Given the description of an element on the screen output the (x, y) to click on. 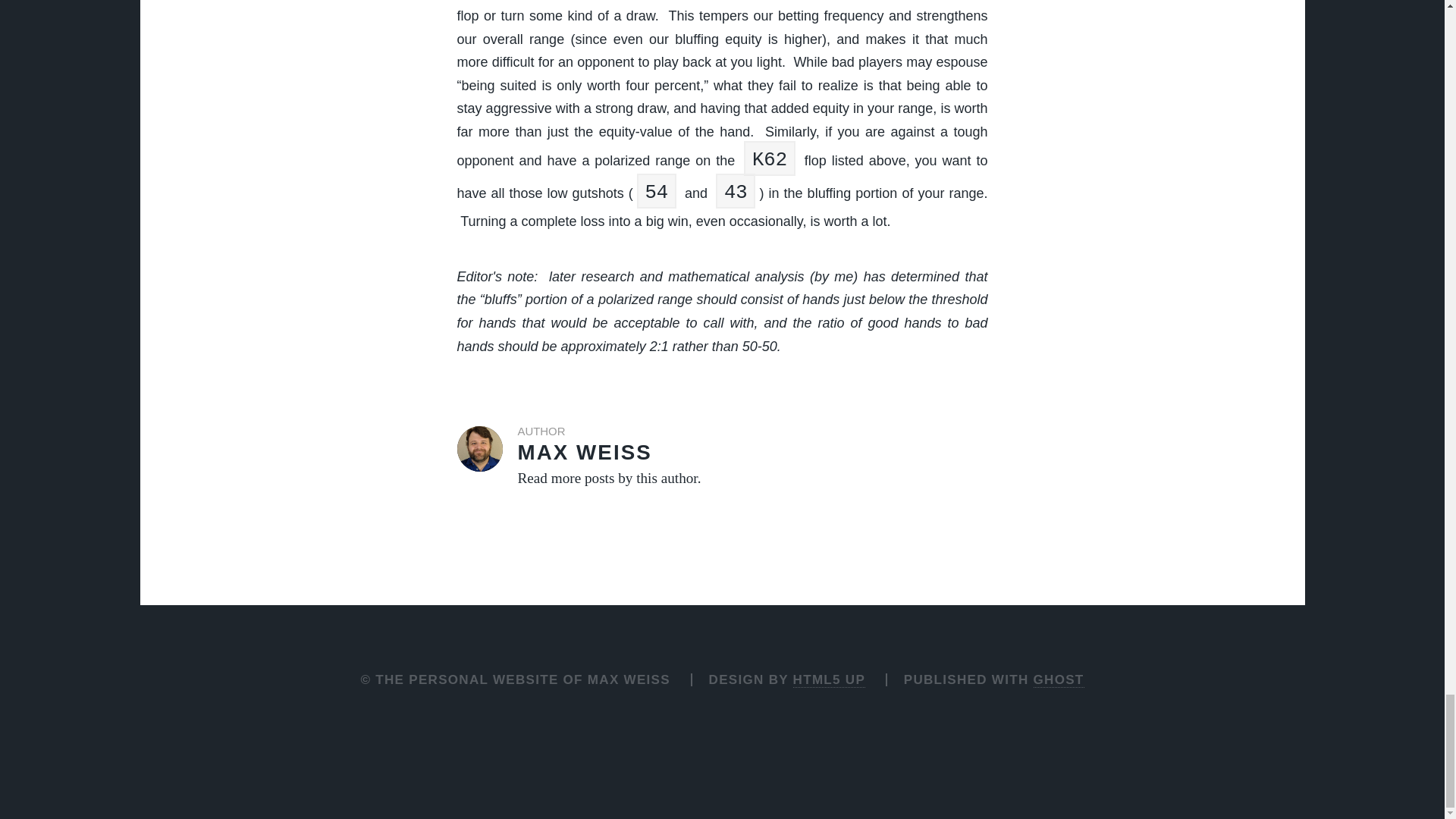
HTML5 UP (828, 679)
GHOST (1058, 679)
